Given the description of an element on the screen output the (x, y) to click on. 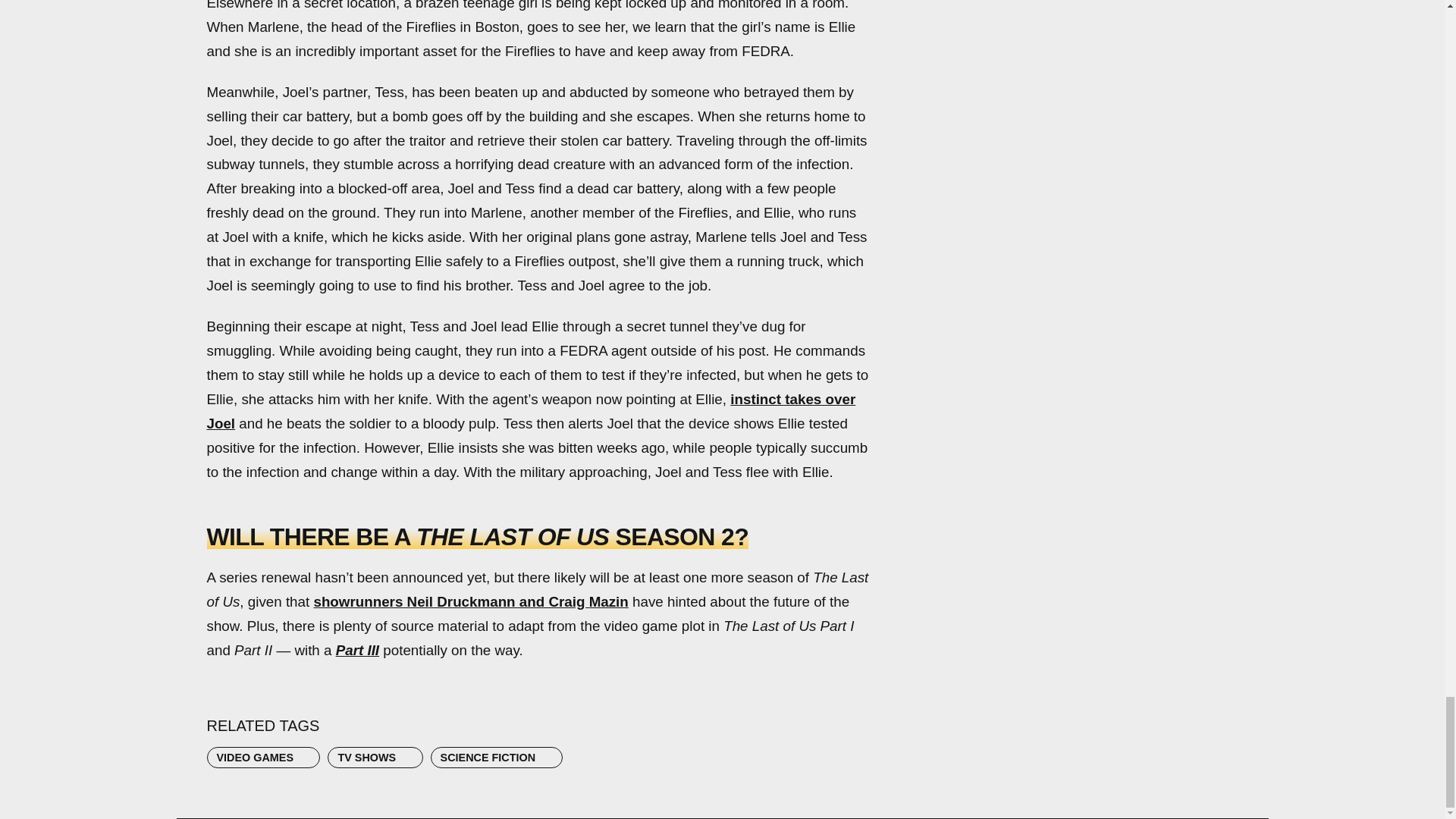
VIDEO GAMES (263, 757)
Part III (357, 650)
instinct takes over Joel (531, 411)
TV SHOWS (374, 757)
SCIENCE FICTION (496, 757)
showrunners Neil Druckmann and Craig Mazin (470, 601)
